Given the description of an element on the screen output the (x, y) to click on. 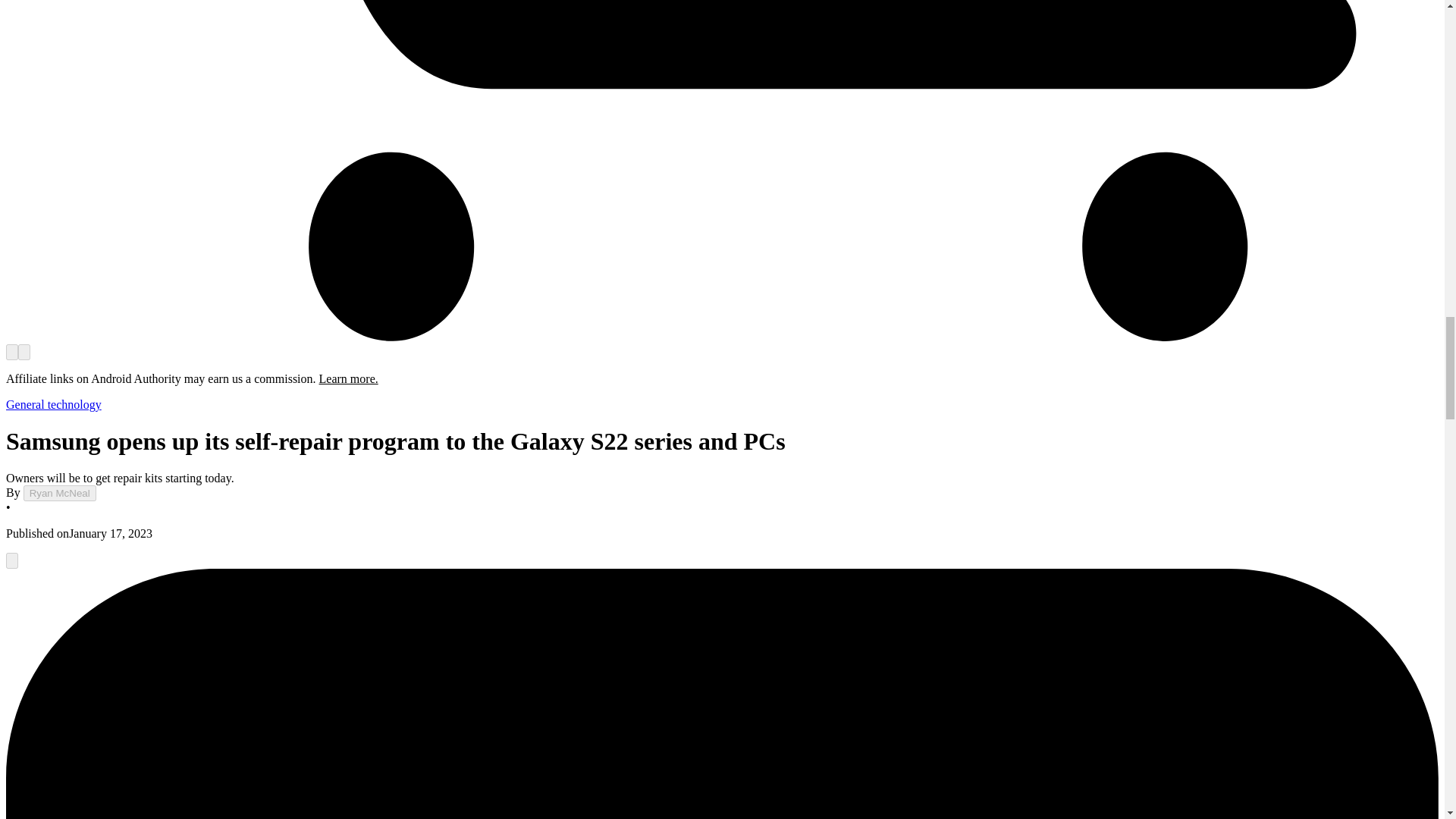
Ryan McNeal (59, 493)
Learn more. (348, 378)
General technology (53, 404)
